Given the description of an element on the screen output the (x, y) to click on. 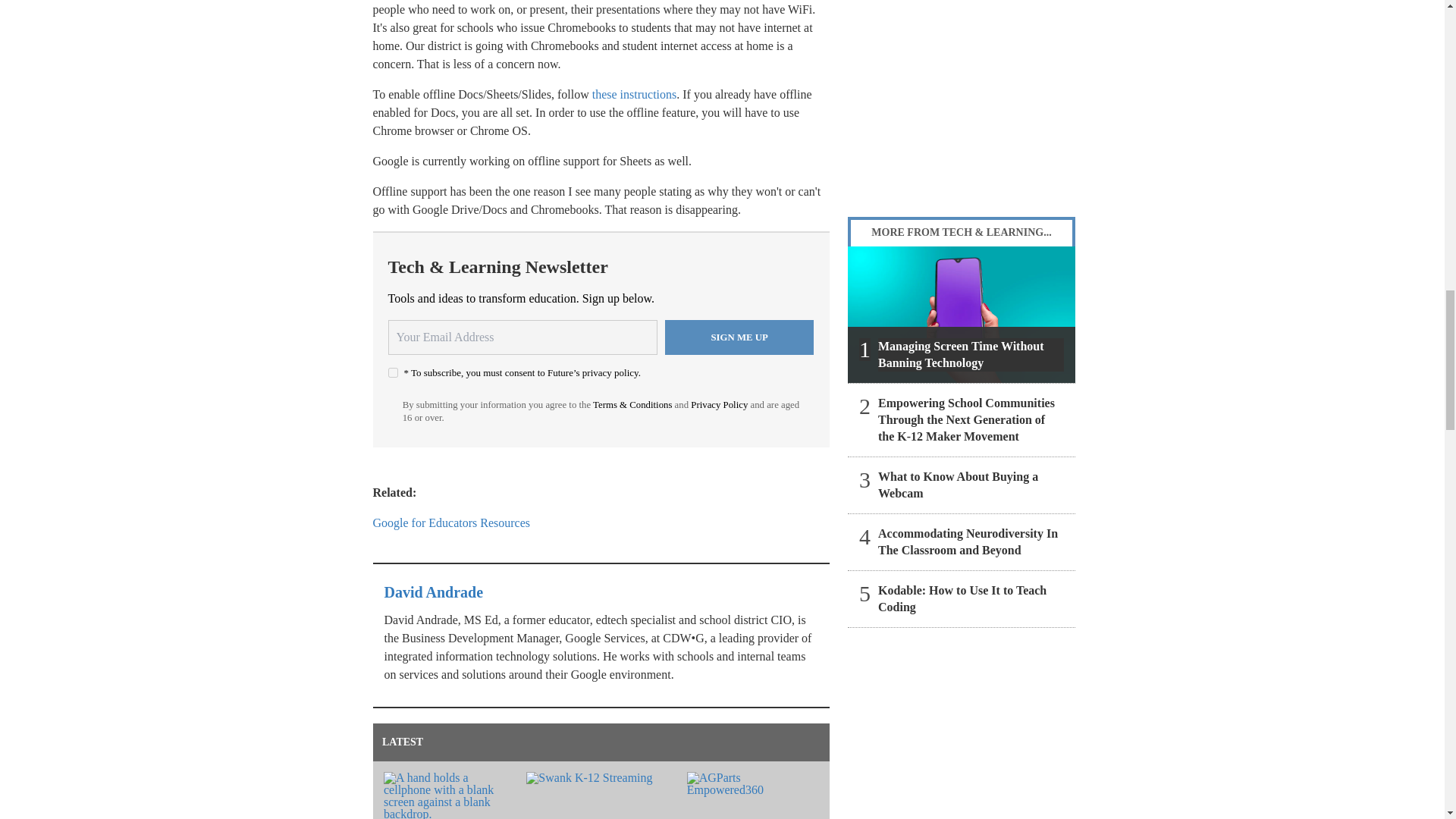
Sign me up (739, 337)
on (392, 372)
Managing Screen Time Without Banning Technology (961, 314)
these instructions (634, 93)
Sign me up (739, 337)
